Given the description of an element on the screen output the (x, y) to click on. 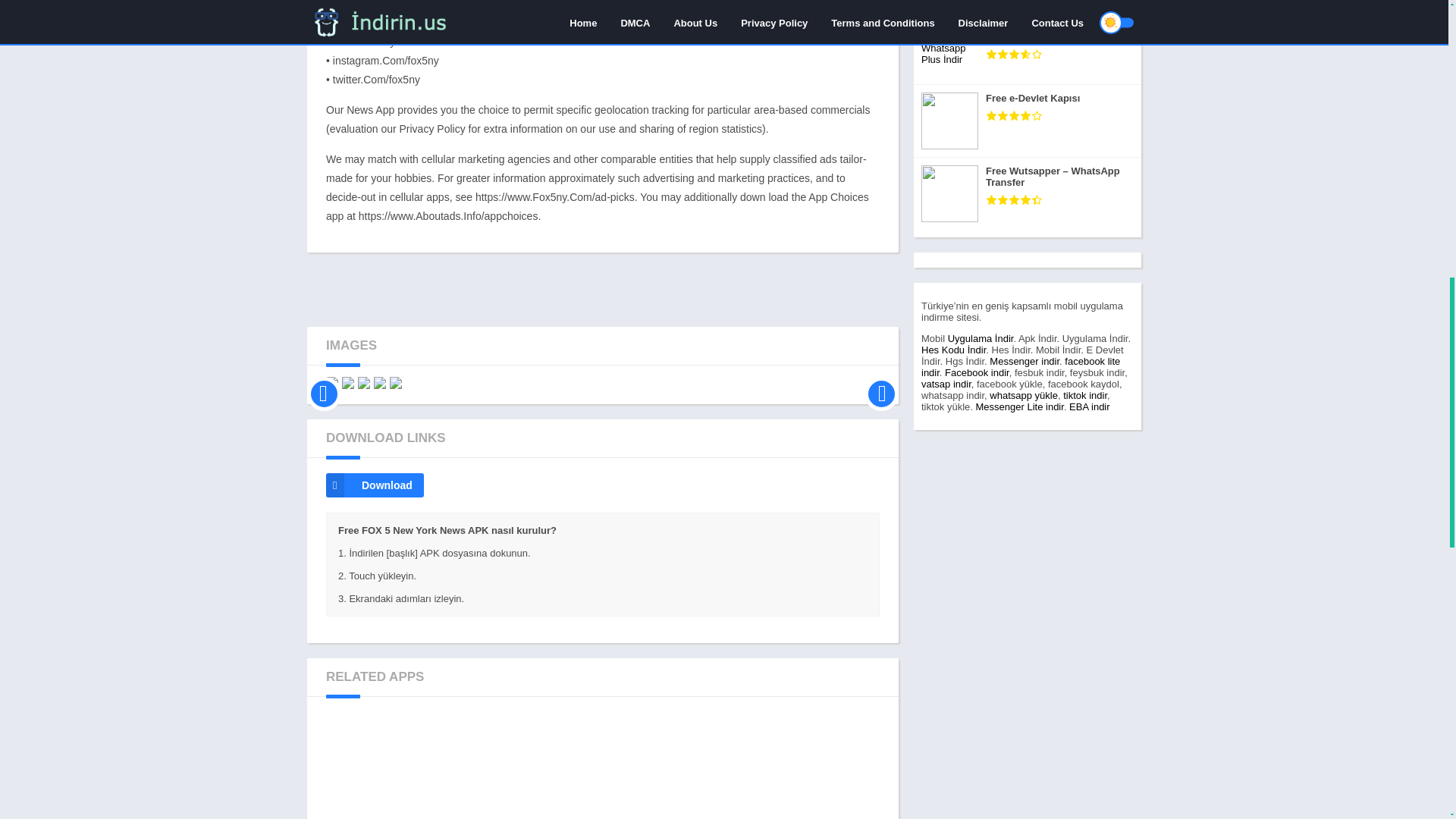
16 WAPT News The One To Watch Apk Download (829, 767)
16 WAPT News The One To Watch Apk Download (829, 767)
Hes Kodu Alma (953, 349)
Local Now Watch Local News, Weather, Movies TV Apk Download (375, 767)
NBC4 Washington Local News, Alerts, Weather TV Apk Download (602, 767)
PIX 11 News Apk Download (715, 767)
Download (374, 485)
PIX 11 News Apk Download (715, 767)
